Given the description of an element on the screen output the (x, y) to click on. 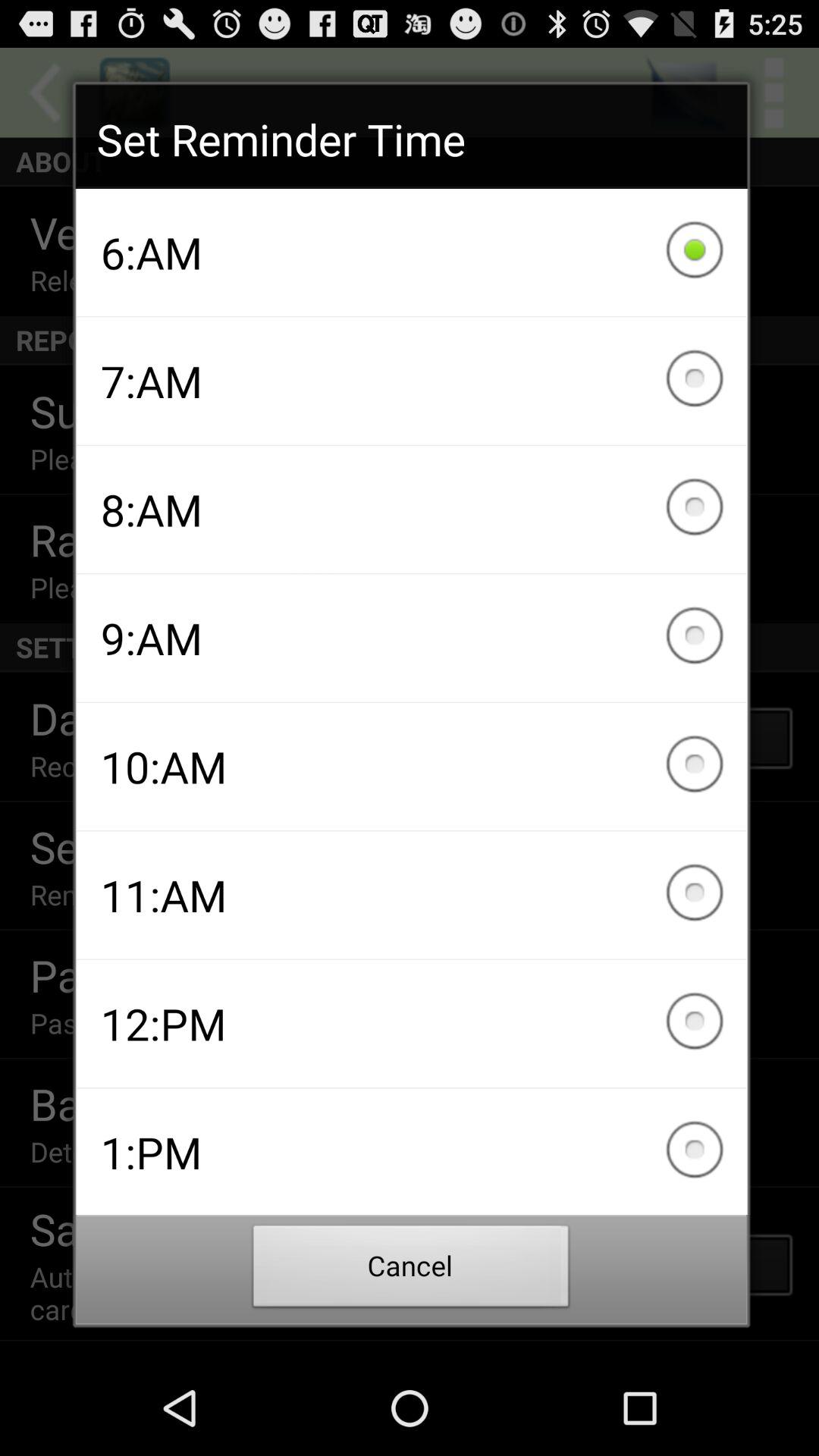
flip until cancel (410, 1270)
